Given the description of an element on the screen output the (x, y) to click on. 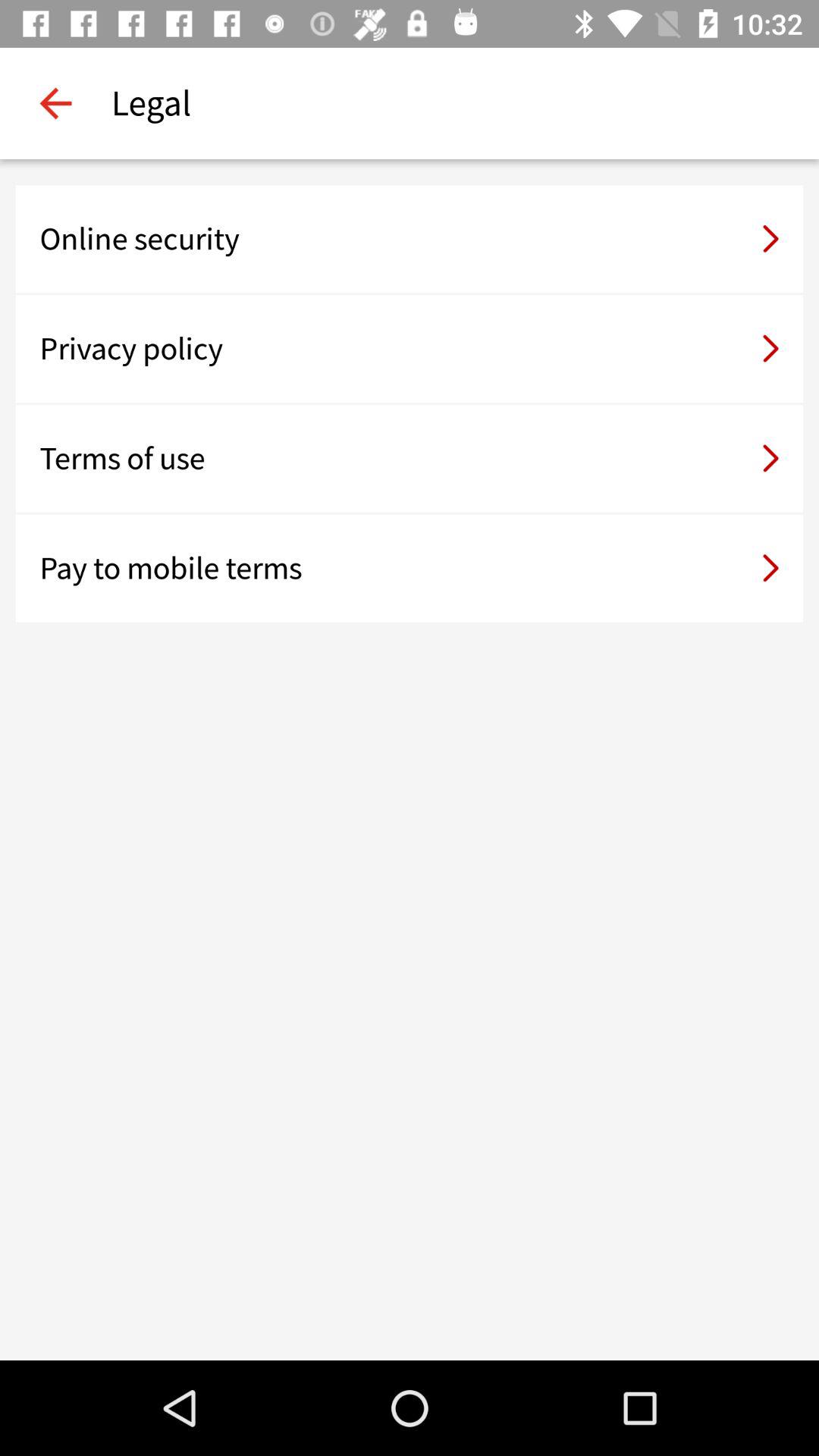
press the terms of use item (409, 458)
